Given the description of an element on the screen output the (x, y) to click on. 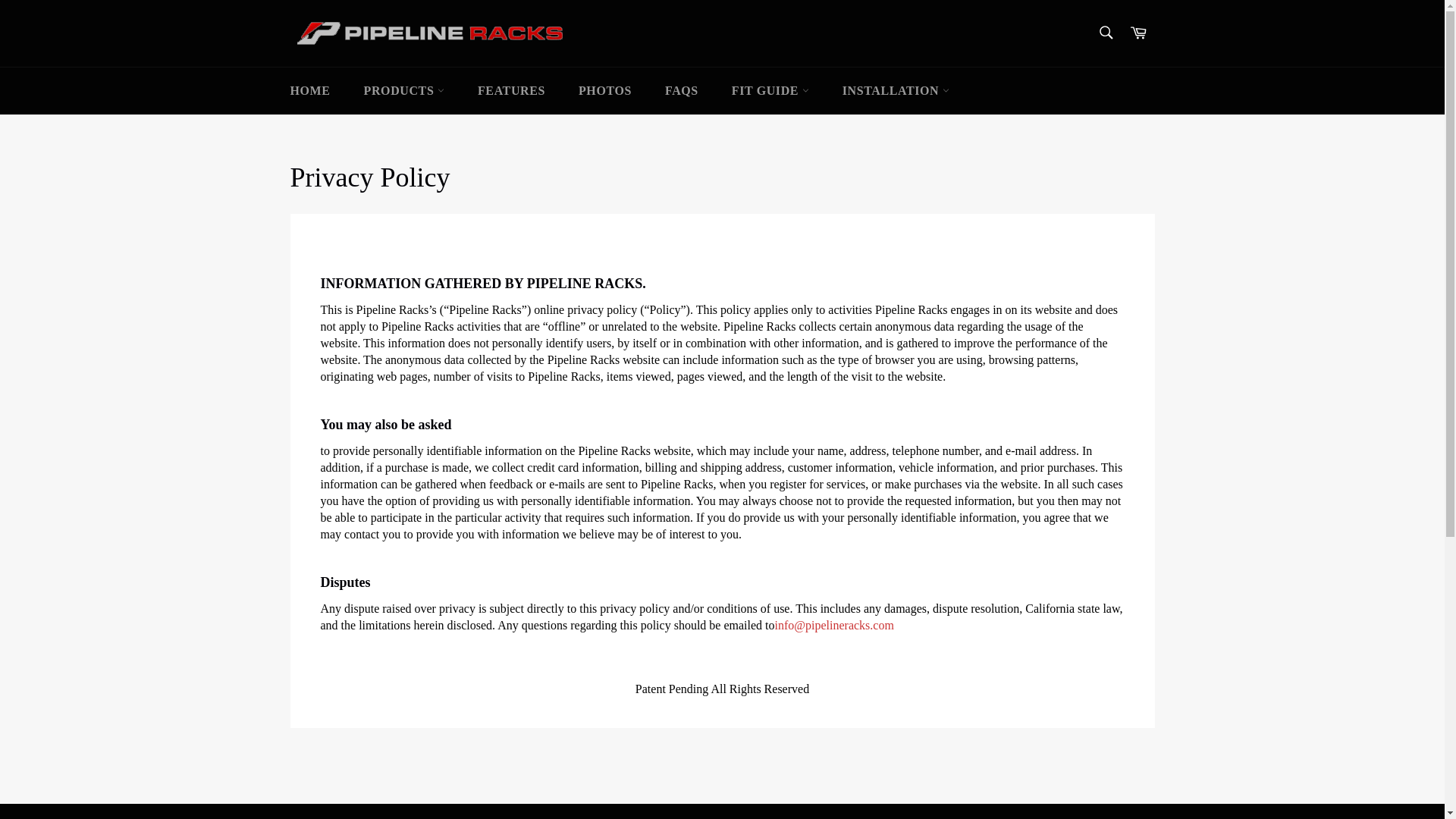
PRODUCTS (404, 90)
HOME (310, 90)
PHOTOS (604, 90)
Cart (1138, 33)
FEATURES (511, 90)
Search (1104, 32)
